Given the description of an element on the screen output the (x, y) to click on. 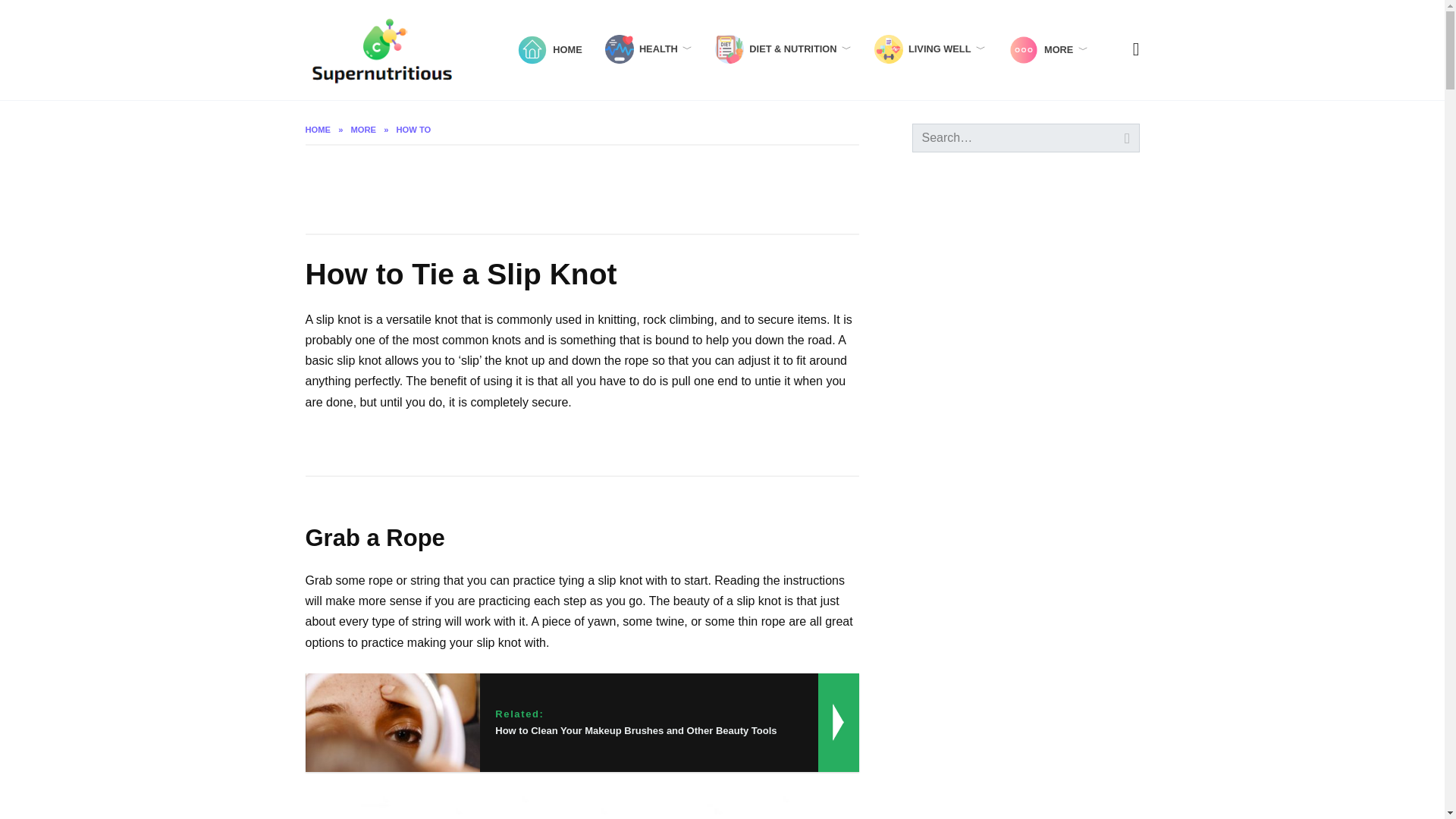
  LIVING WELL (930, 48)
  MORE (1048, 49)
  HEALTH (649, 48)
  HOME (549, 49)
